Given the description of an element on the screen output the (x, y) to click on. 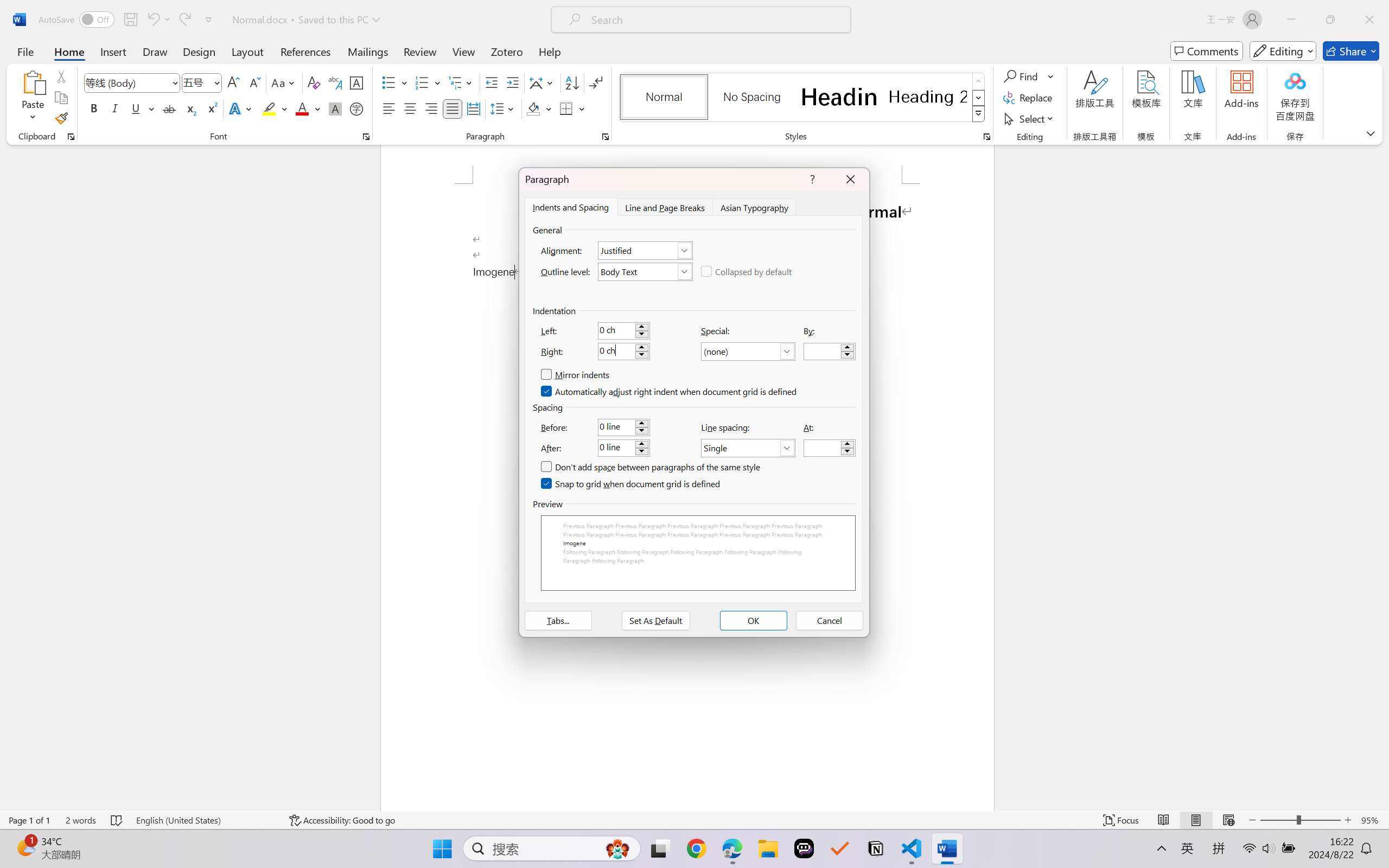
Sort... (571, 82)
Set As Default (655, 620)
Zoom 95% (1372, 819)
Font... (365, 136)
Asian Typography (754, 206)
Character Shading (334, 108)
Outline level: (645, 271)
Distributed (473, 108)
